Given the description of an element on the screen output the (x, y) to click on. 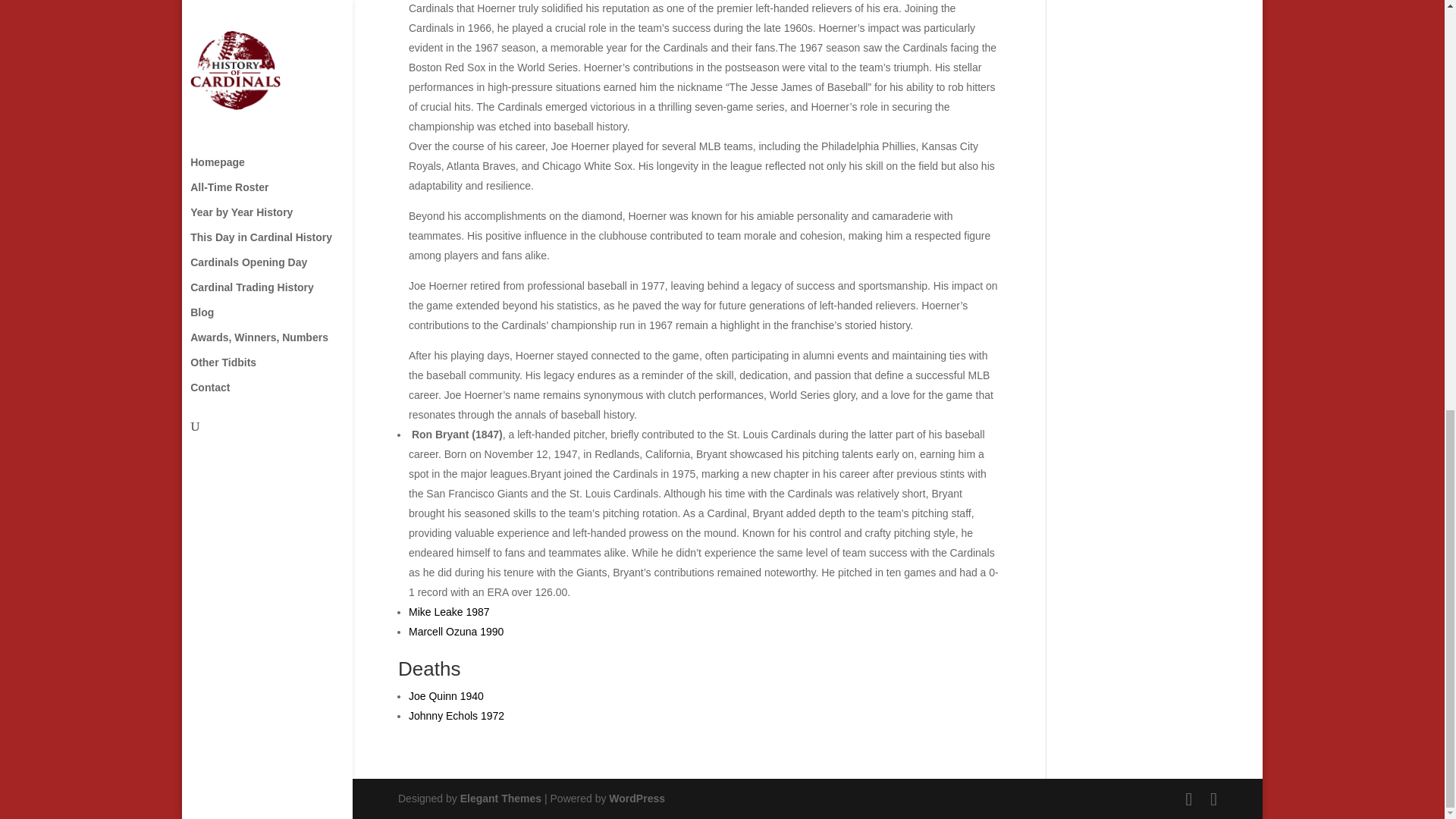
Premium WordPress Themes (500, 798)
Elegant Themes (500, 798)
WordPress (636, 798)
